Given the description of an element on the screen output the (x, y) to click on. 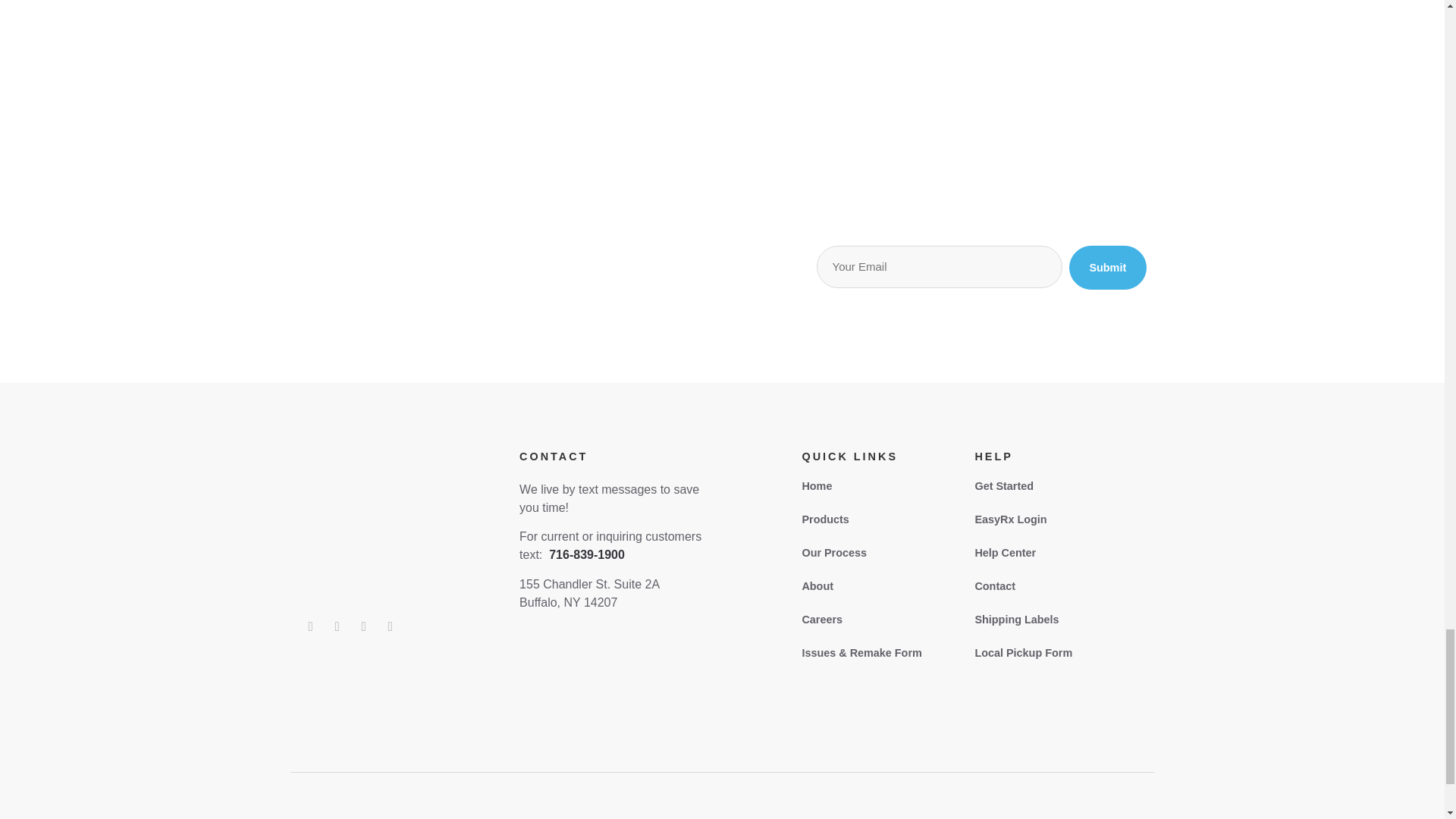
Submit (1107, 267)
